Given the description of an element on the screen output the (x, y) to click on. 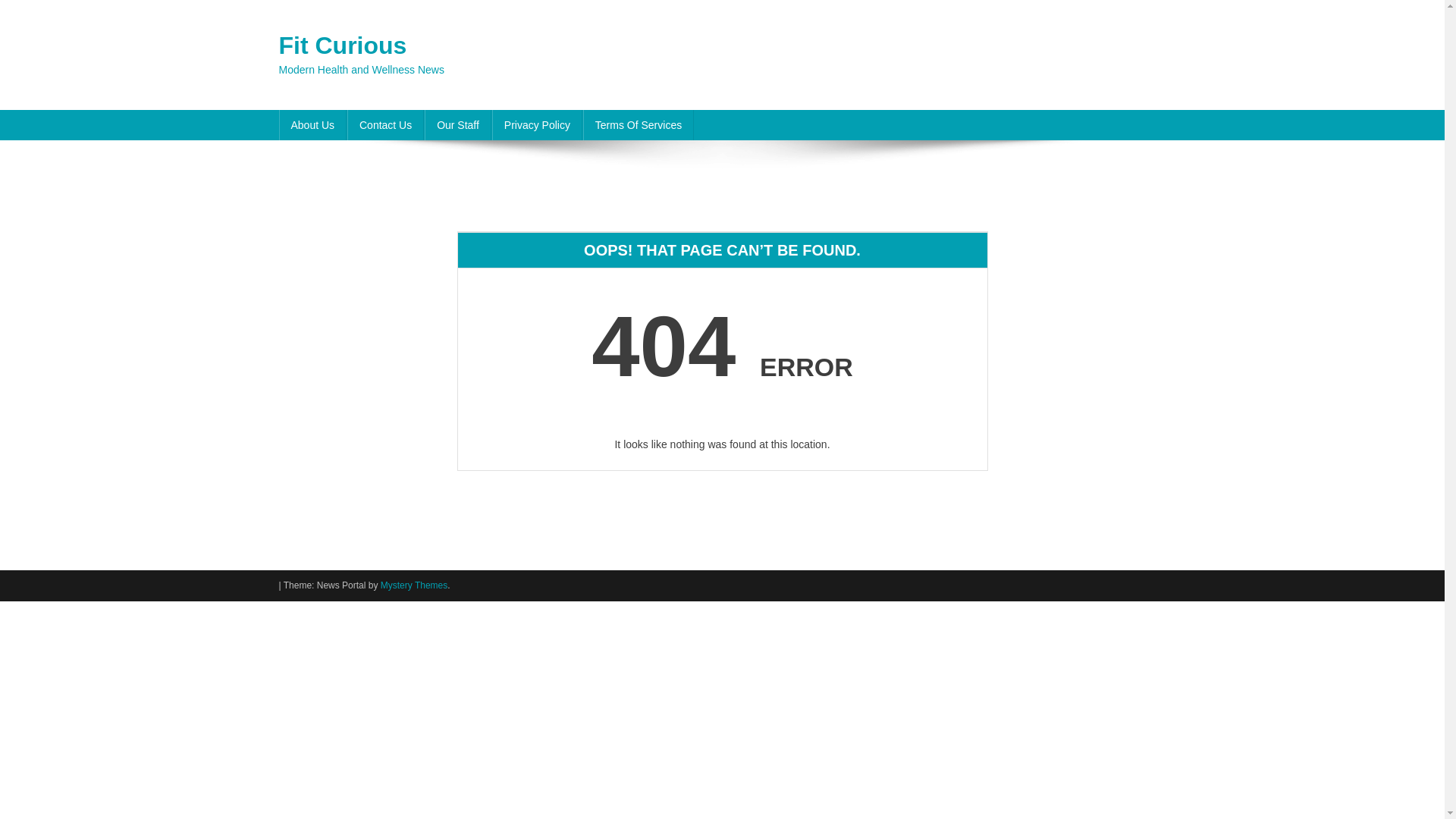
Terms Of Services (638, 124)
About Us (313, 124)
Fit Curious (343, 44)
Search (1133, 135)
Privacy Policy (537, 124)
Mystery Themes (413, 584)
Contact Us (385, 124)
Our Staff (458, 124)
